Given the description of an element on the screen output the (x, y) to click on. 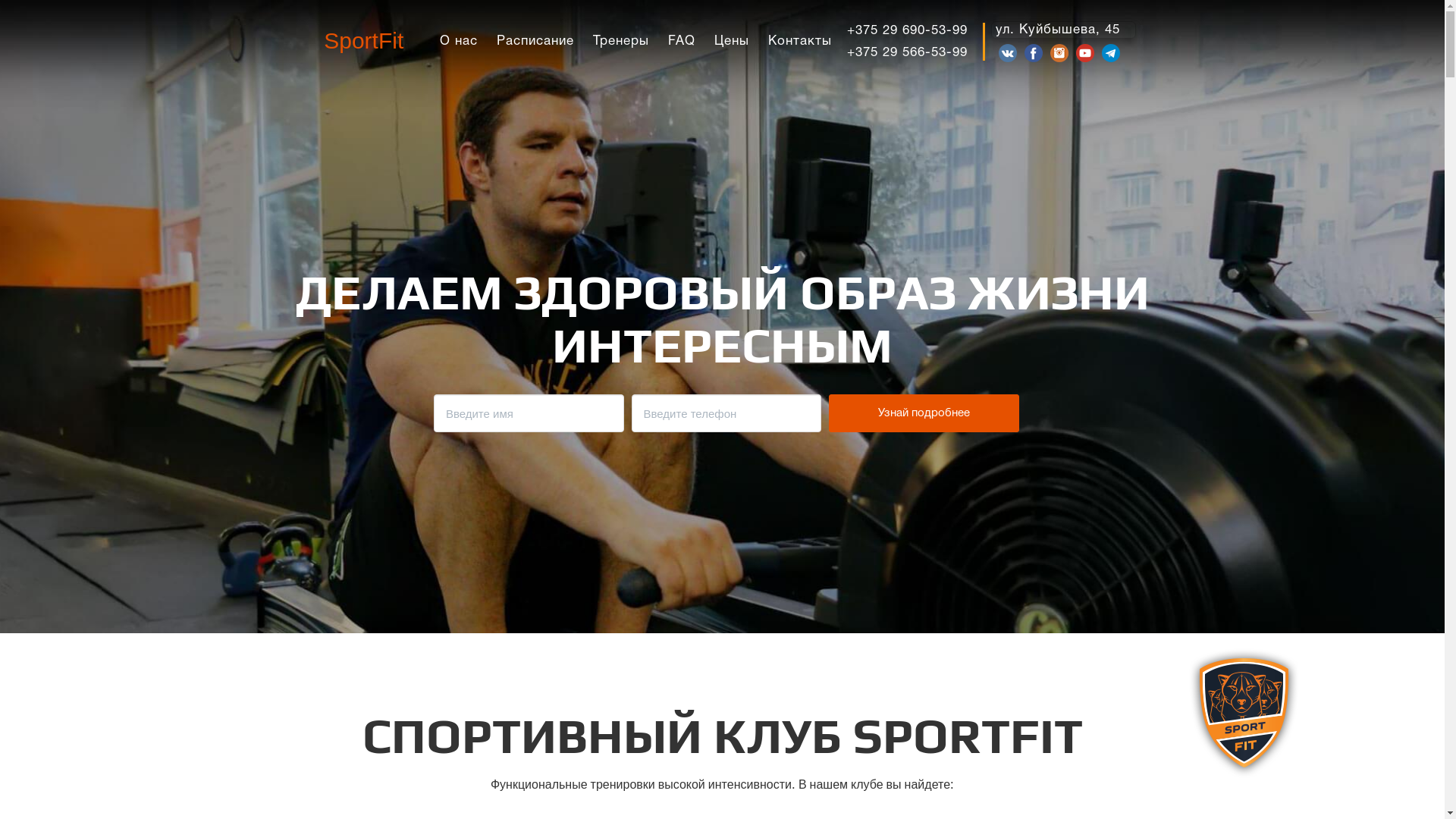
SportFit Element type: text (363, 41)
+375 29 690-53-99 Element type: text (914, 30)
+375 29 566-53-99 Element type: text (914, 49)
FAQ Element type: text (687, 41)
